Given the description of an element on the screen output the (x, y) to click on. 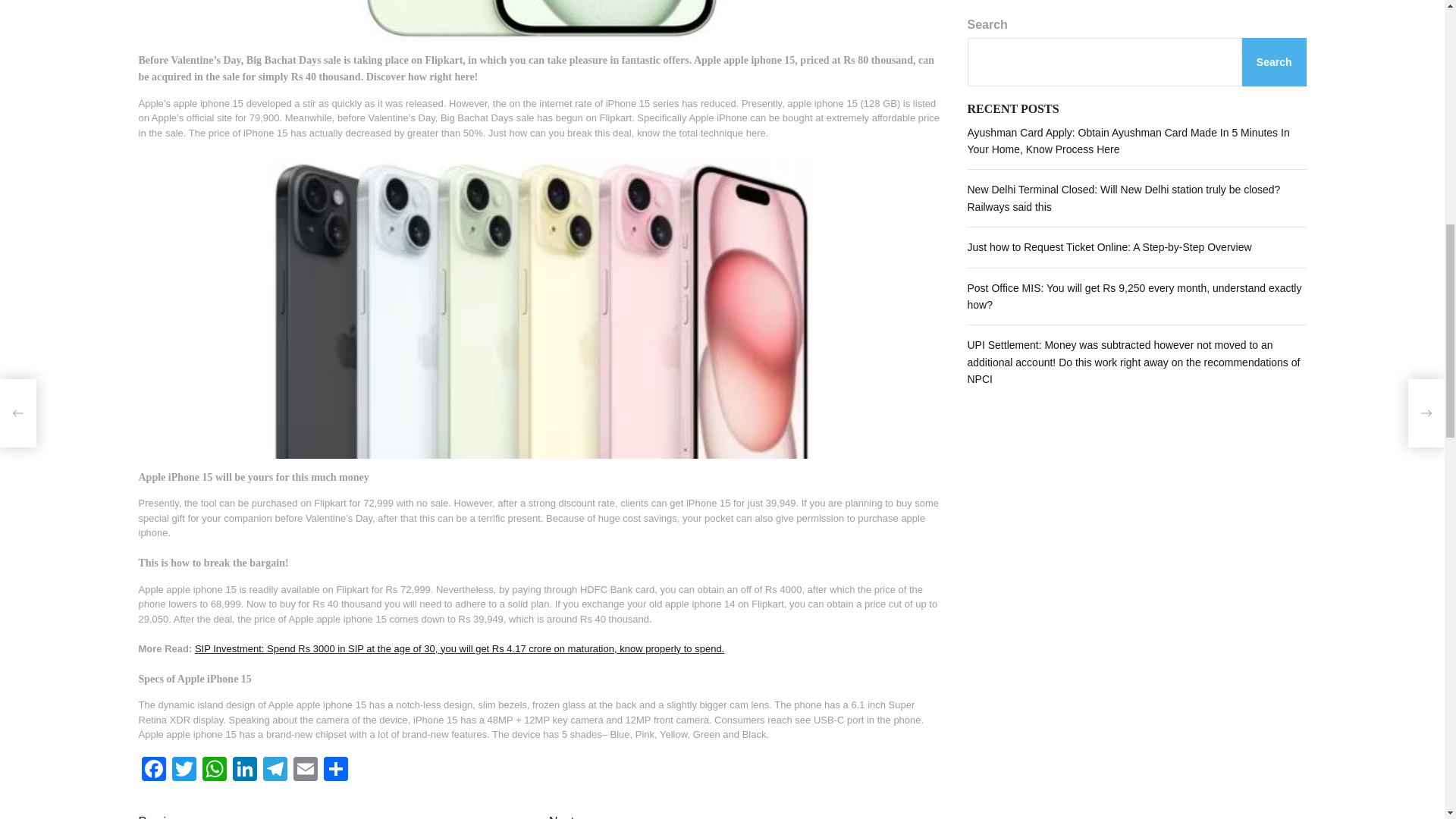
Telegram (274, 770)
Twitter (183, 770)
LinkedIn (243, 770)
Email (304, 770)
Facebook (153, 770)
WhatsApp (213, 770)
